Given the description of an element on the screen output the (x, y) to click on. 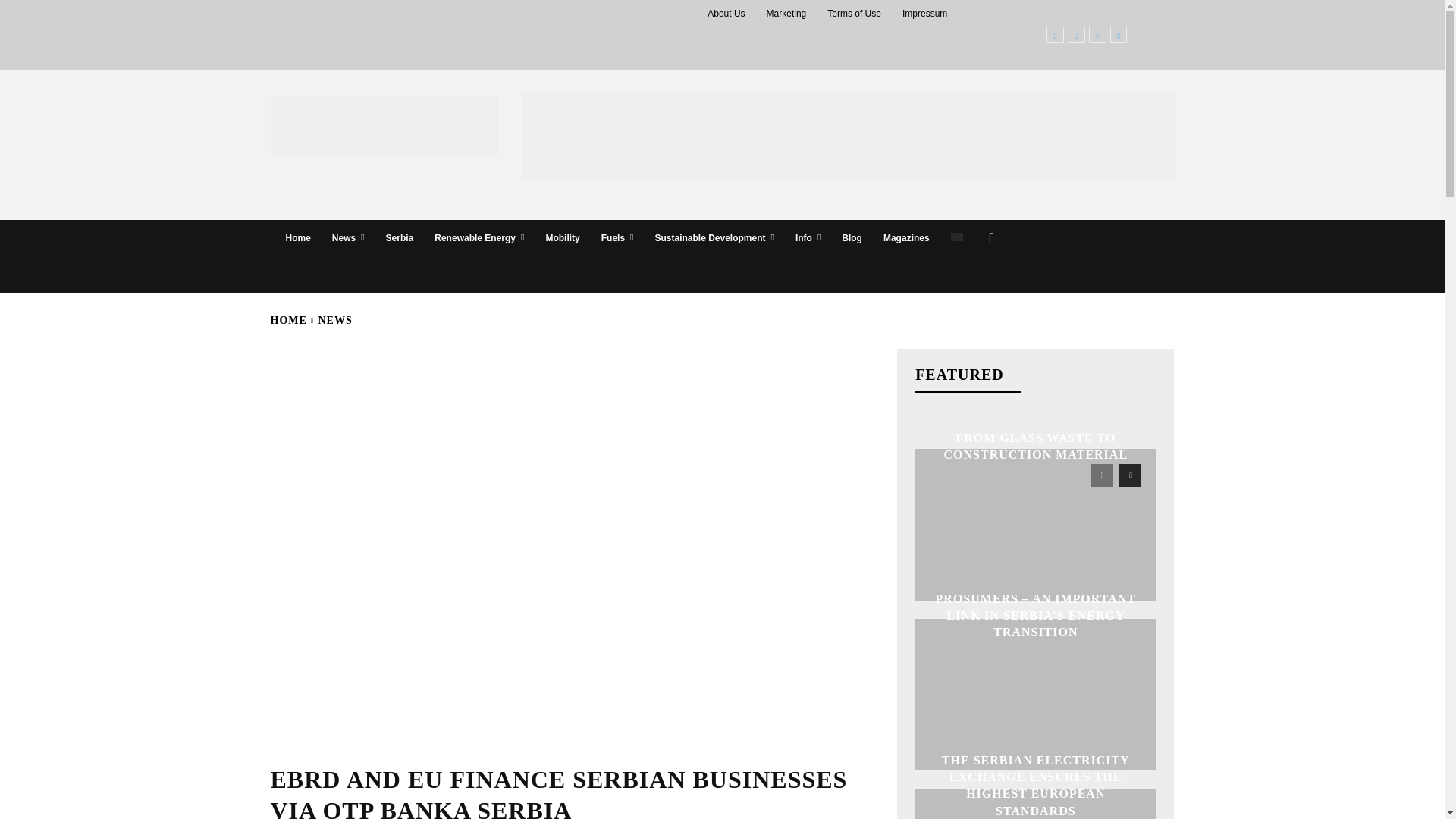
Linkedin (1097, 35)
Twitter (1117, 35)
View all posts in News (335, 319)
Instagram (1075, 35)
Facebook (1055, 35)
